Given the description of an element on the screen output the (x, y) to click on. 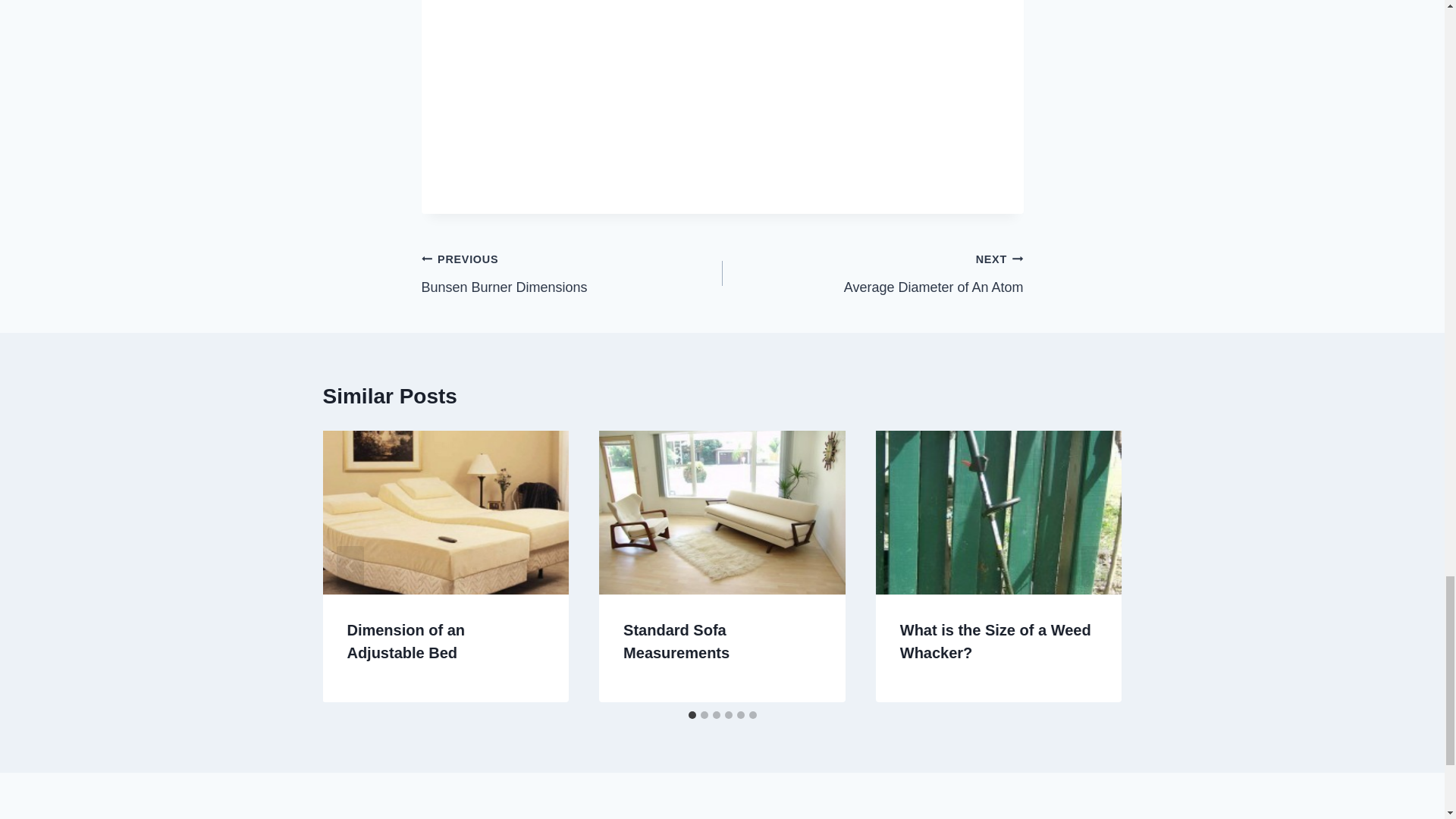
Advertisement (572, 273)
